Given the description of an element on the screen output the (x, y) to click on. 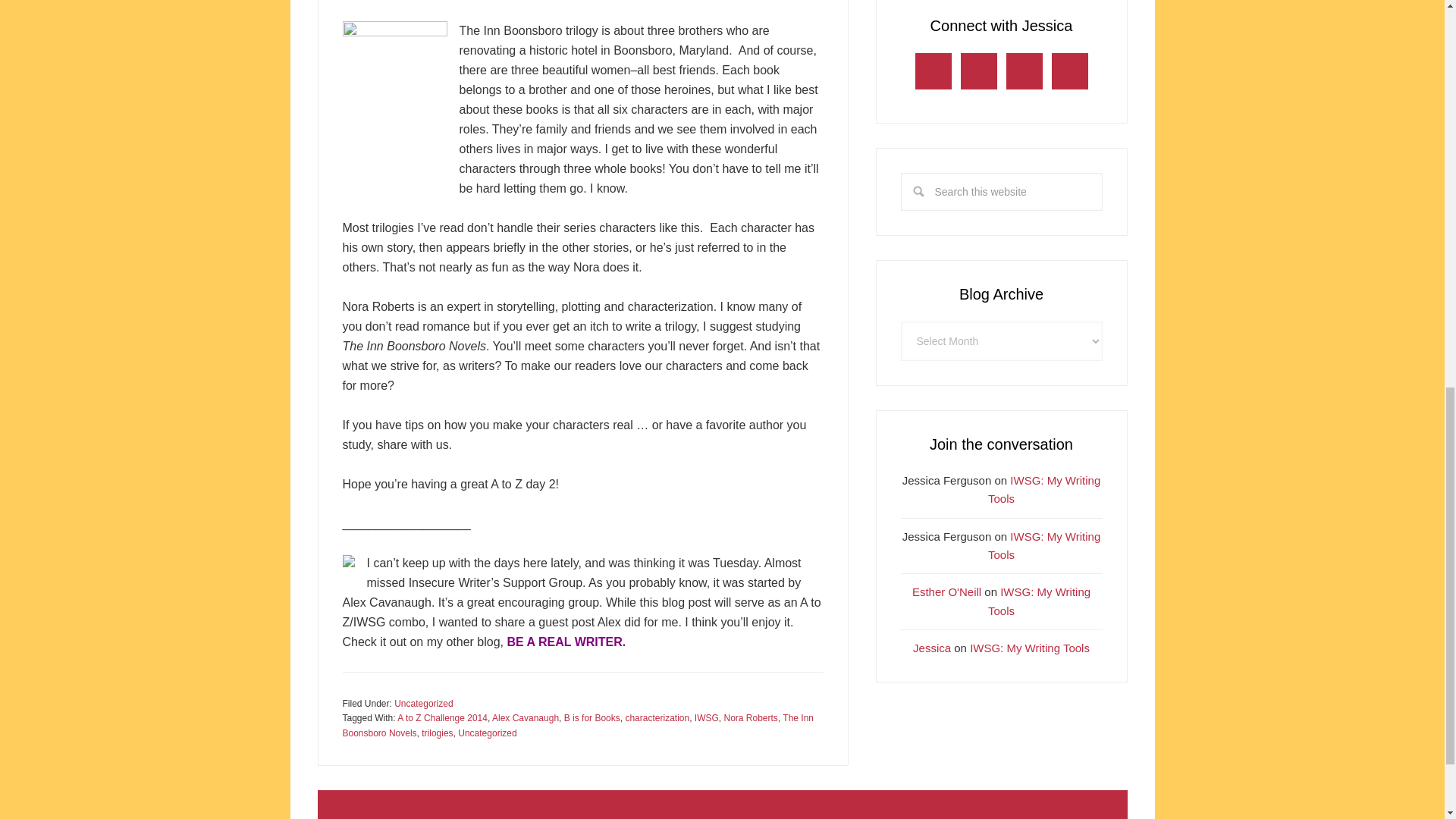
Jessica (931, 647)
Nora Roberts (750, 717)
Uncategorized (487, 733)
trilogies (437, 733)
The Inn Boonsboro Novels (577, 725)
IWSG: My Writing Tools (1029, 647)
BE A REAL WRITER. (566, 641)
B is for Books (592, 717)
IWSG: My Writing Tools (1039, 600)
characterization (656, 717)
IWSG: My Writing Tools (1044, 544)
Esther O'Neill (946, 591)
IWSG: My Writing Tools (1044, 489)
IWSG (706, 717)
